Given the description of an element on the screen output the (x, y) to click on. 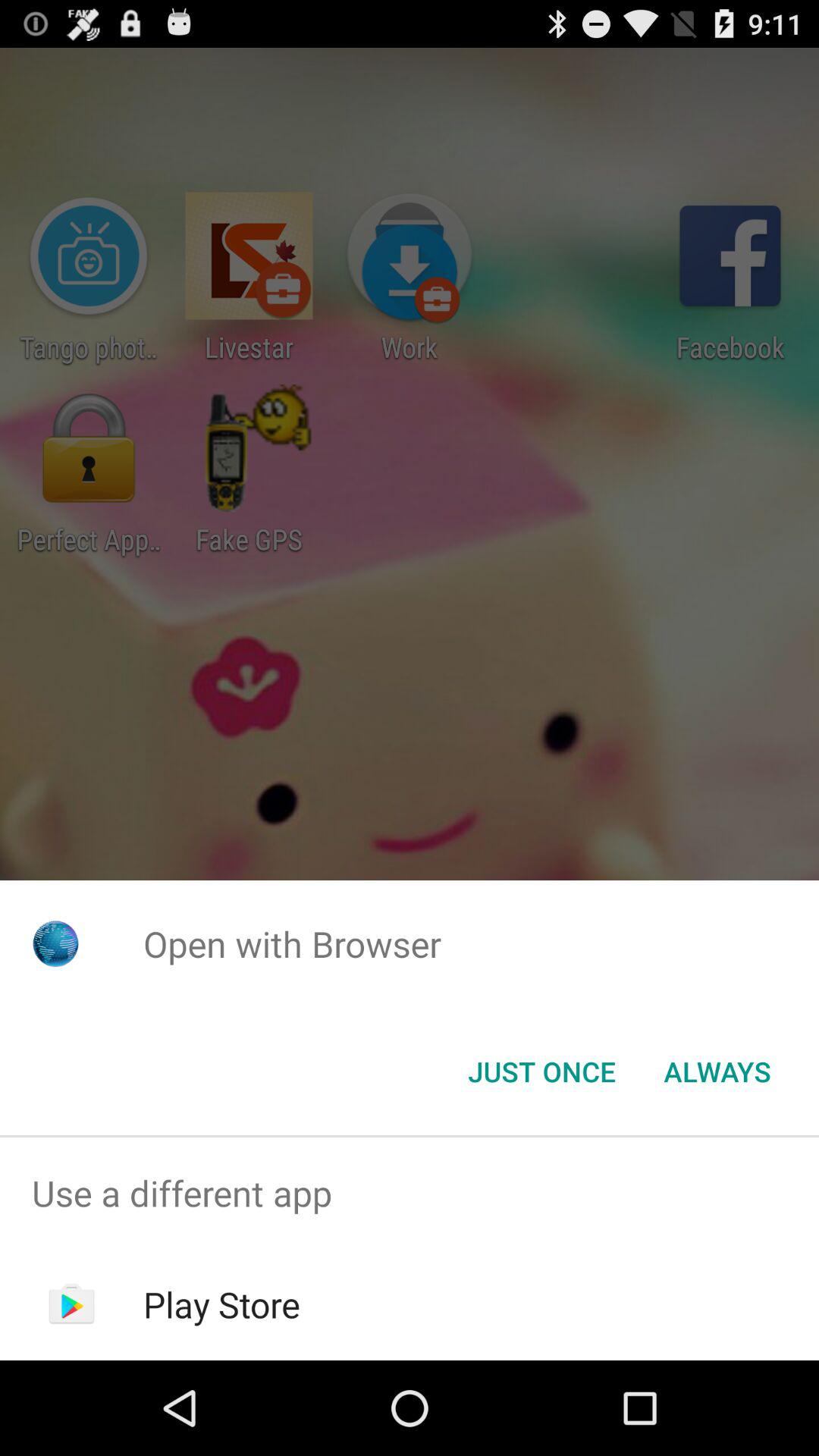
tap the item next to always item (541, 1071)
